Given the description of an element on the screen output the (x, y) to click on. 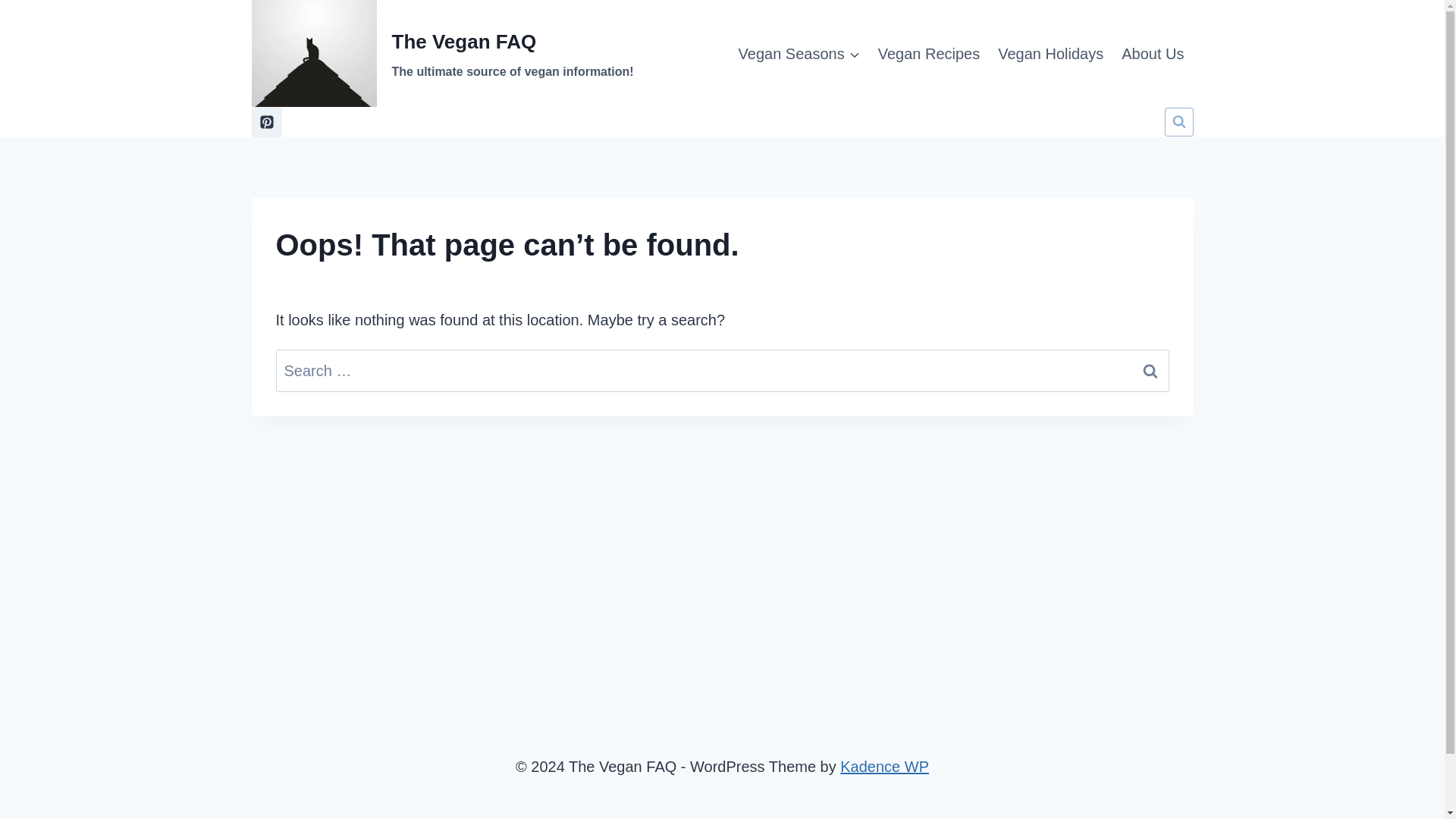
Kadence WP (884, 766)
Search (1150, 370)
Search (1150, 370)
Search (1150, 370)
About Us (1152, 53)
Vegan Recipes (929, 53)
Vegan Seasons (442, 53)
Vegan Holidays (799, 53)
